Given the description of an element on the screen output the (x, y) to click on. 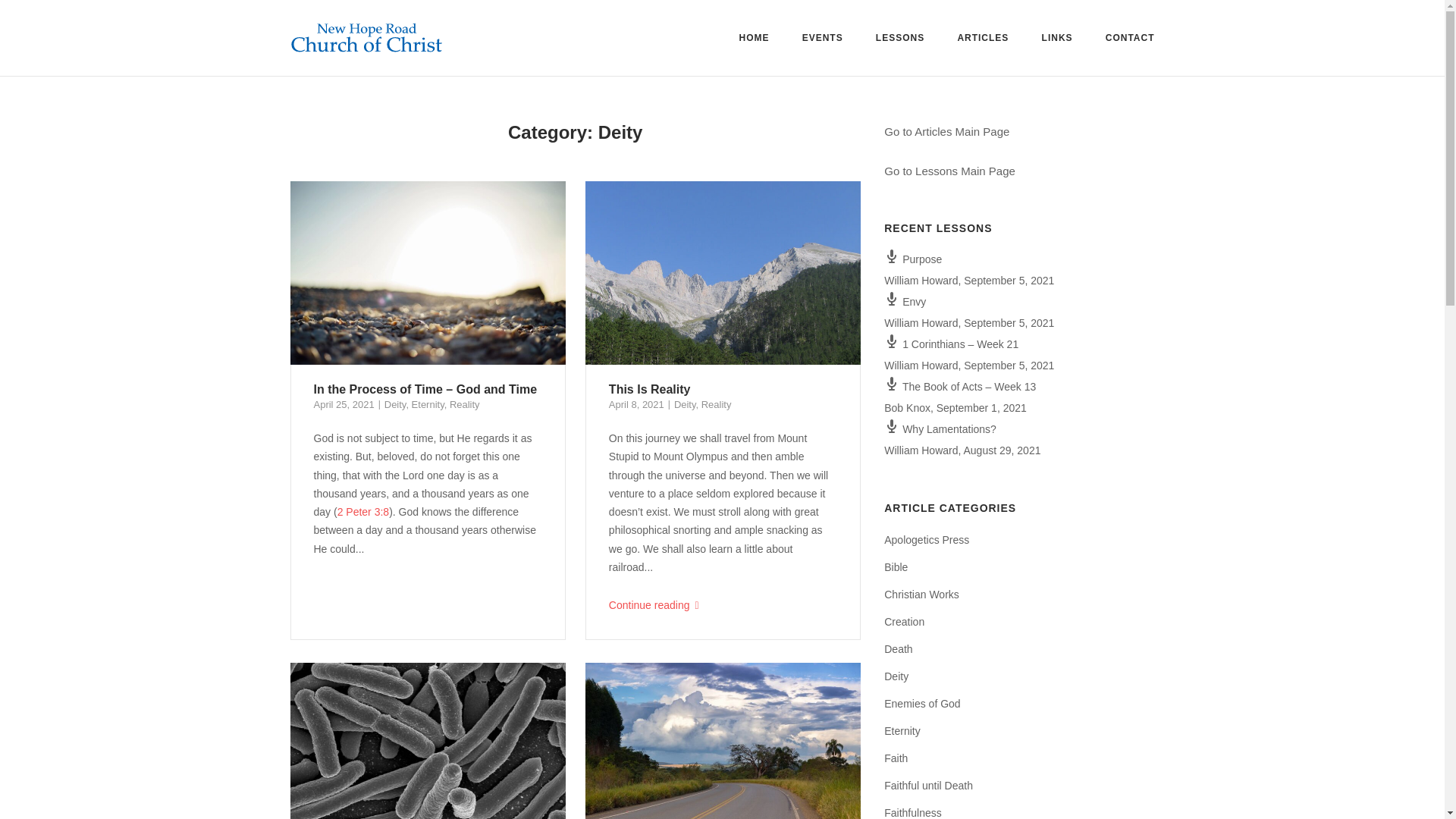
April 25, 2021 (344, 404)
Continue reading (722, 605)
April 8, 2021 (635, 404)
CONTACT (1129, 40)
Articles (946, 131)
HOME (753, 40)
EVENTS (822, 40)
LINKS (1057, 40)
Purpose (912, 259)
This Is Reality (649, 389)
Reality (464, 404)
Why Lamentations? (939, 428)
Eternity (428, 404)
Deity (395, 404)
Deity (684, 404)
